Given the description of an element on the screen output the (x, y) to click on. 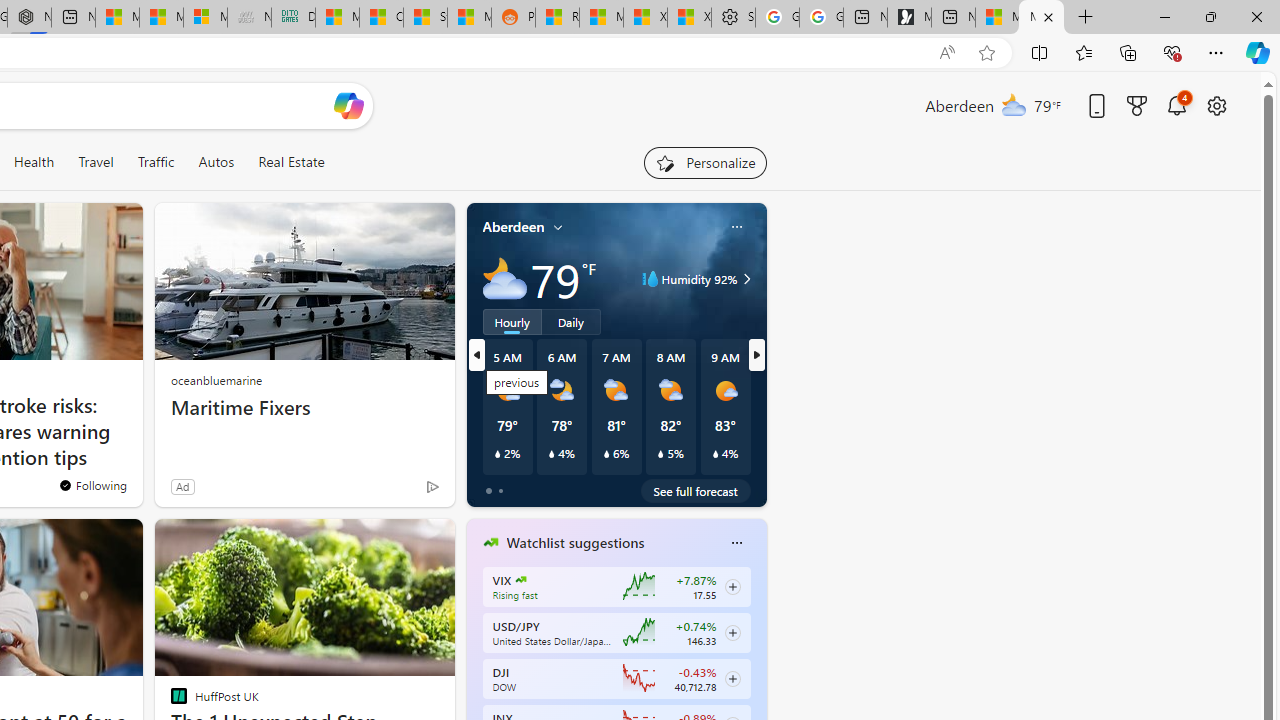
Class: weather-arrow-glyph (746, 278)
My location (558, 227)
See full forecast (695, 490)
Autos (216, 162)
previous (476, 670)
Aberdeen (513, 227)
